Given the description of an element on the screen output the (x, y) to click on. 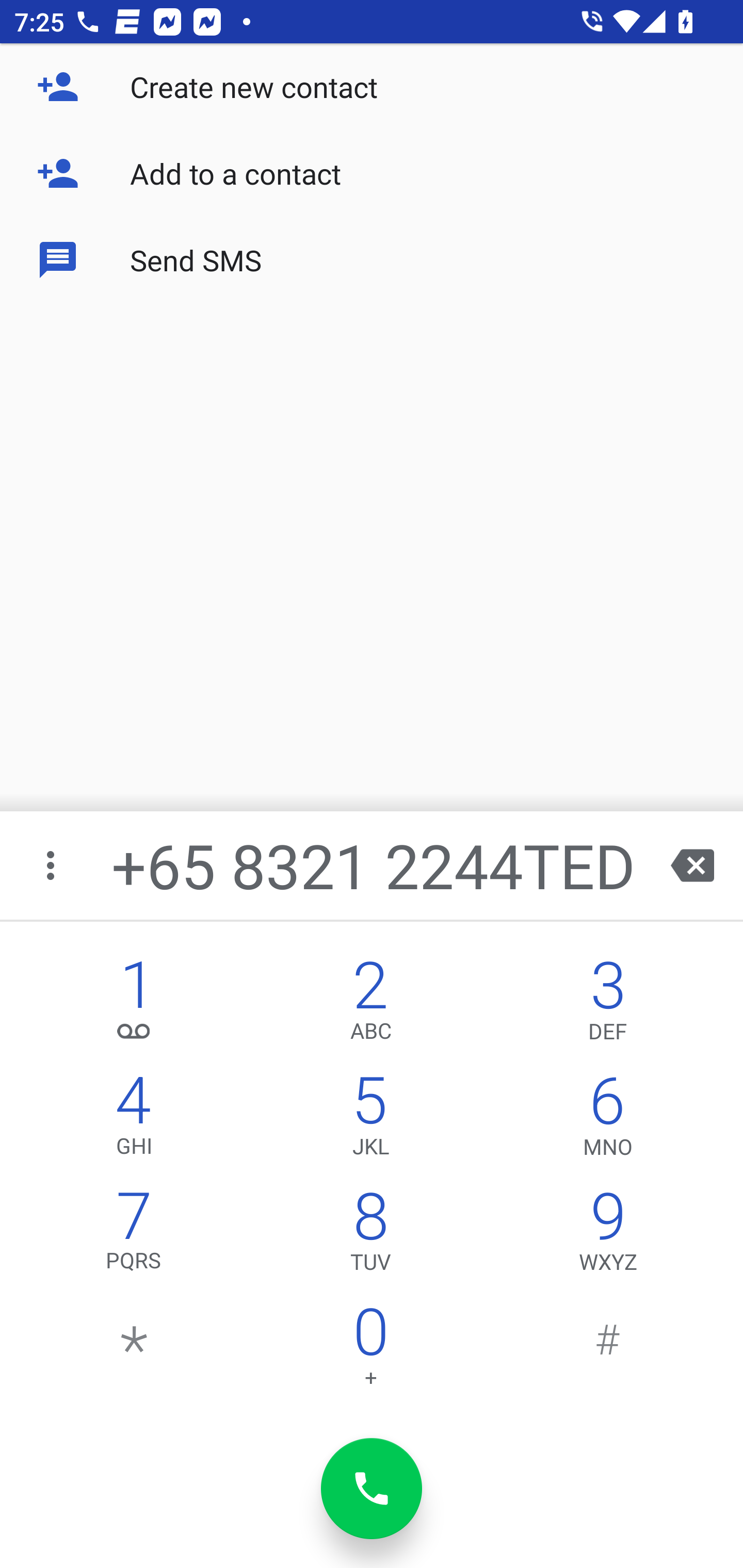
Create new contact (371, 86)
Add to a contact (371, 173)
Send SMS (371, 259)
+65 8321 2244TED (372, 865)
backspace (692, 865)
More options (52, 865)
1, 1 (133, 1005)
2,ABC 2 ABC (370, 1005)
3,DEF 3 DEF (607, 1005)
4,GHI 4 GHI (133, 1120)
5,JKL 5 JKL (370, 1120)
6,MNO 6 MNO (607, 1120)
7,PQRS 7 PQRS (133, 1235)
8,TUV 8 TUV (370, 1235)
9,WXYZ 9 WXYZ (607, 1235)
* (133, 1351)
0 0 + (370, 1351)
# (607, 1351)
dial (371, 1488)
